Given the description of an element on the screen output the (x, y) to click on. 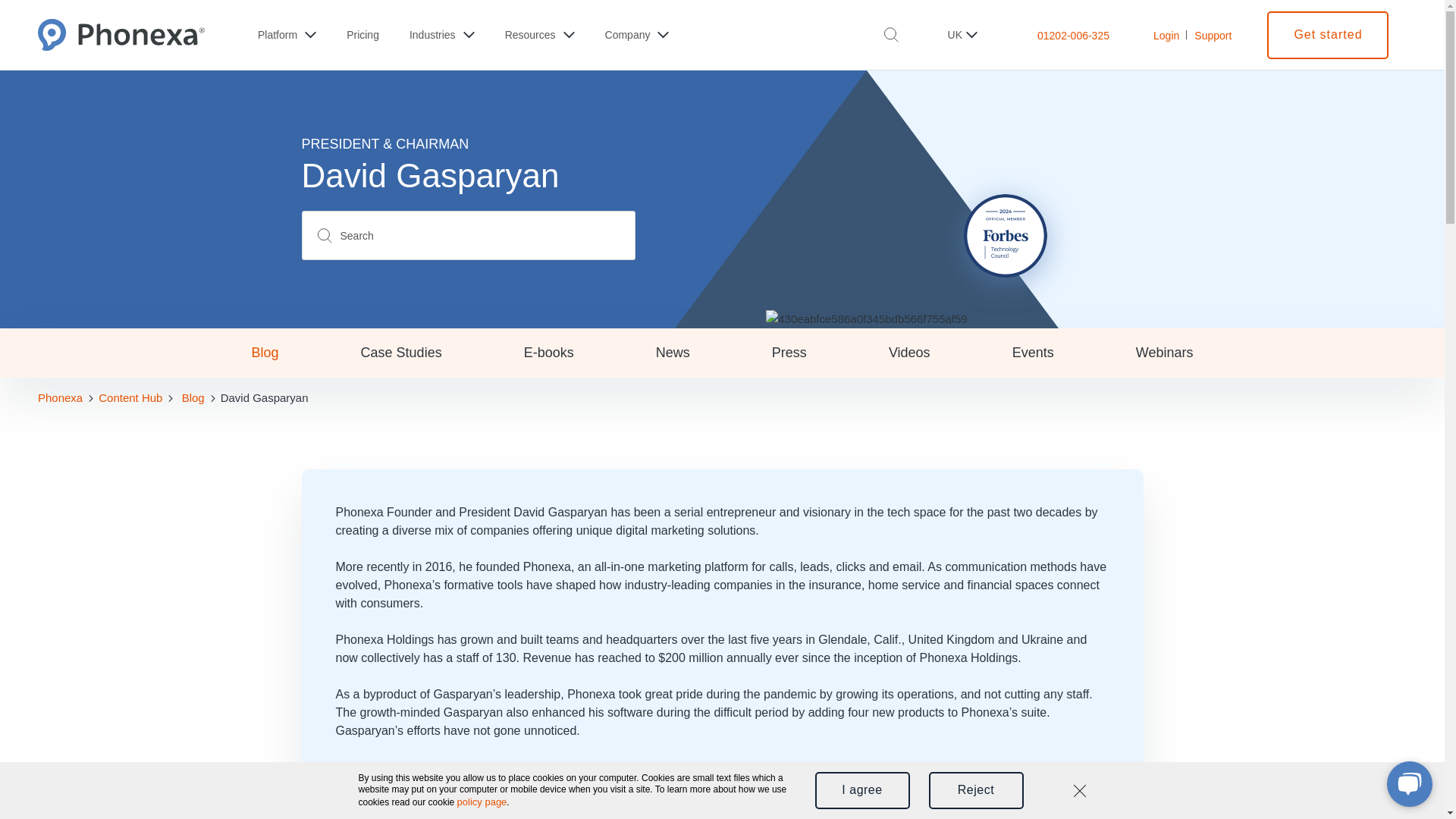
Login (1166, 34)
Company (637, 34)
01202-006-325 (1072, 34)
I agree (860, 790)
Resources (540, 34)
Reject (975, 790)
Industries (441, 34)
